Given the description of an element on the screen output the (x, y) to click on. 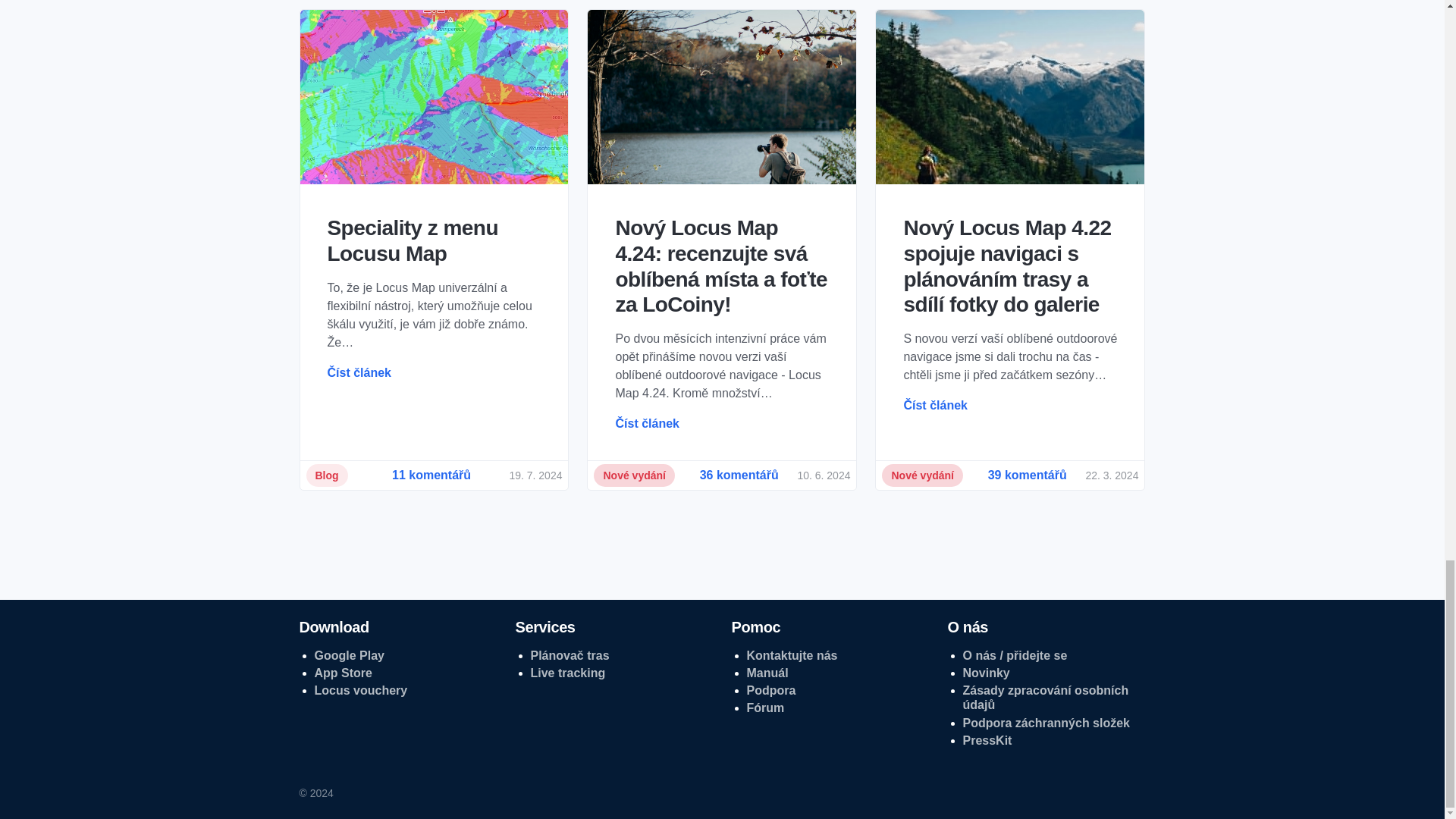
Blog (326, 475)
Speciality z menu Locusu Map (434, 240)
